Given the description of an element on the screen output the (x, y) to click on. 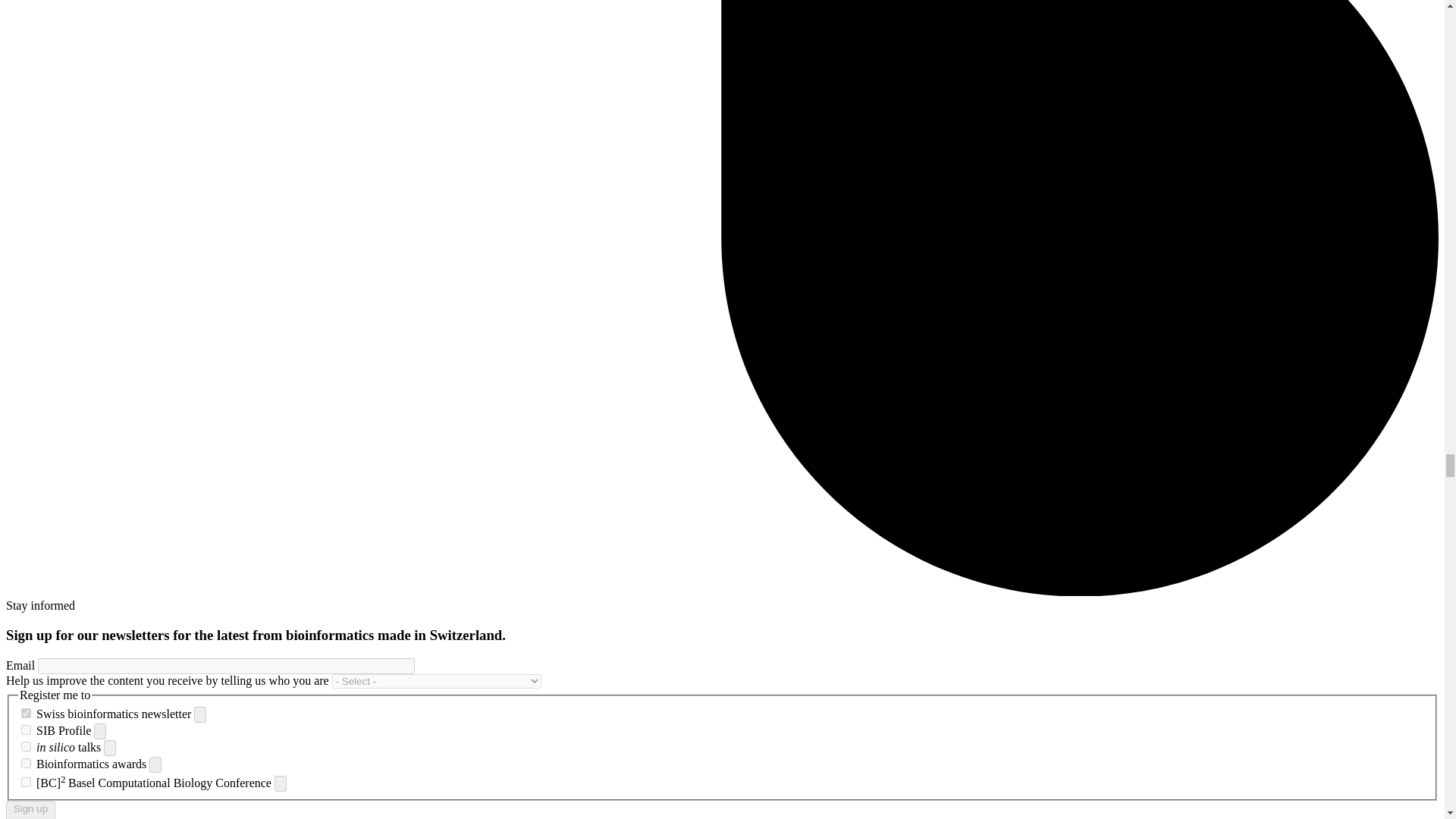
1 (25, 782)
1 (25, 729)
1 (25, 746)
1 (25, 763)
1 (25, 713)
